Given the description of an element on the screen output the (x, y) to click on. 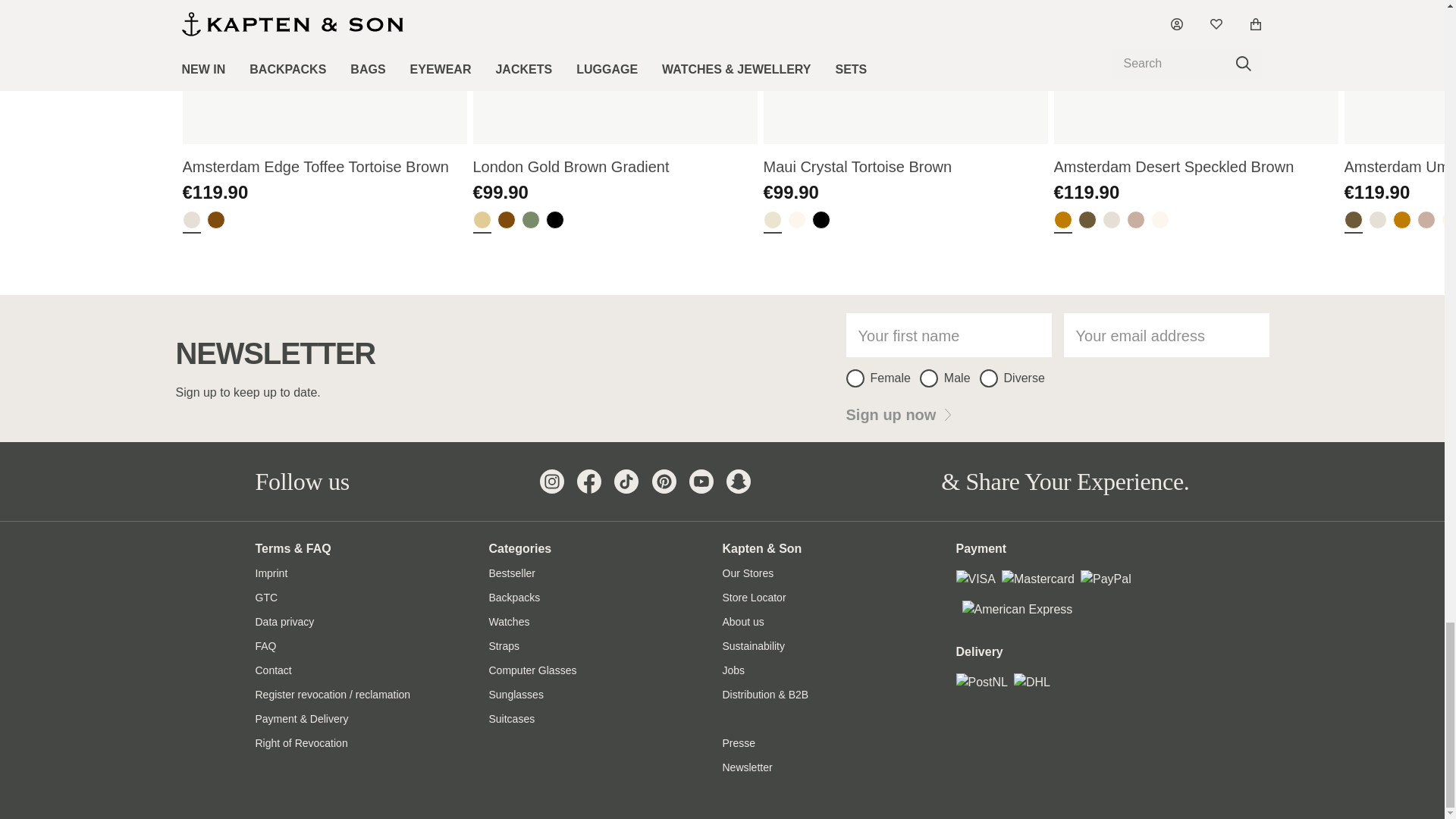
London Gold Brown Gradient - Tortoise (506, 222)
London Gold Brown Gradient - Green (530, 222)
London Gold Brown Gradient - Black (555, 222)
Amsterdam Edge Toffee Tortoise Brown - Tortoise (215, 222)
Amsterdam Edge Toffee Tortoise Brown - Oyster (191, 222)
weiblich (854, 378)
London Gold Brown Gradient - Gold (482, 222)
diverse (988, 378)
